Given the description of an element on the screen output the (x, y) to click on. 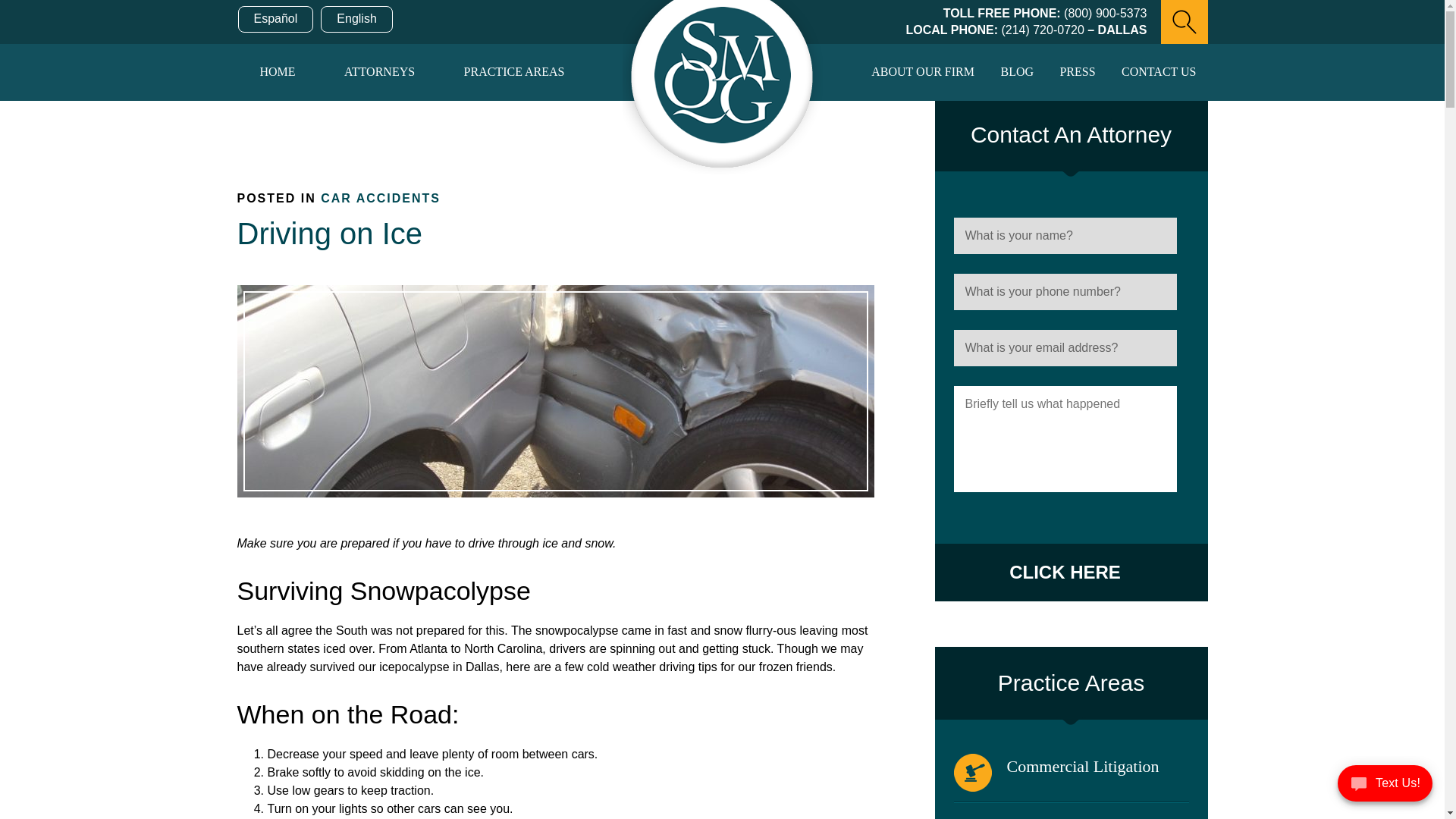
English (355, 18)
HOME (276, 72)
PRACTICE AREAS (514, 72)
ATTORNEYS (379, 72)
Click Here (1064, 572)
